Given the description of an element on the screen output the (x, y) to click on. 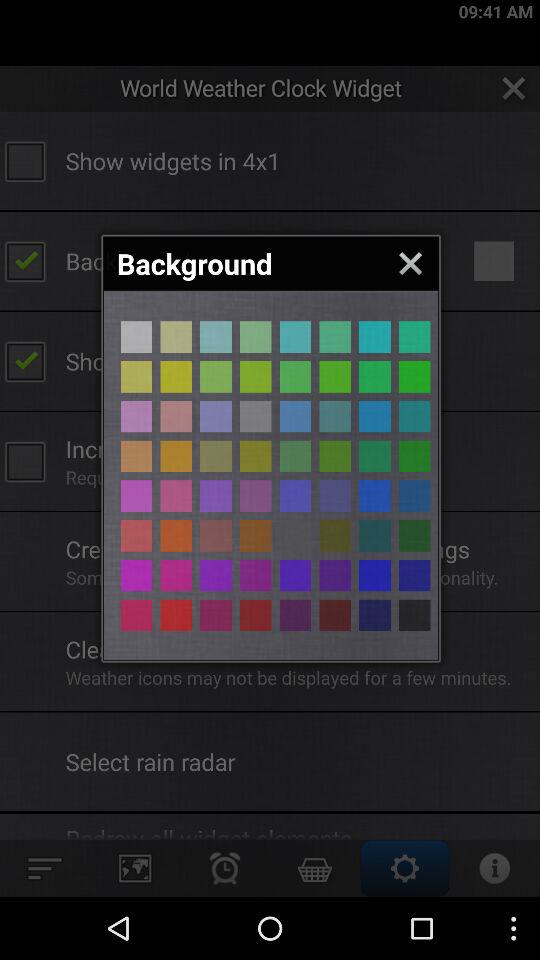
background button (295, 416)
